Given the description of an element on the screen output the (x, y) to click on. 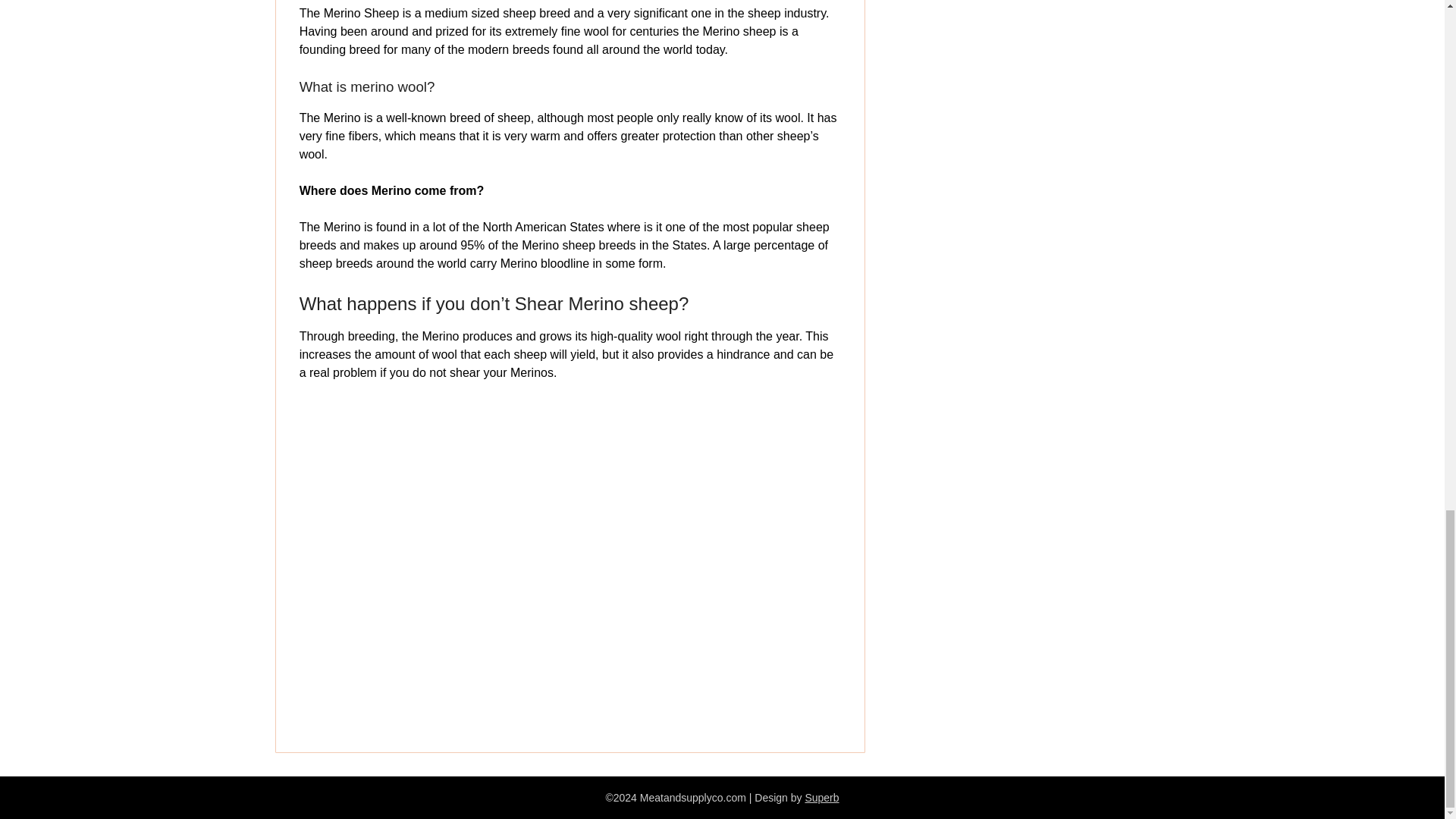
Superb (821, 797)
